Given the description of an element on the screen output the (x, y) to click on. 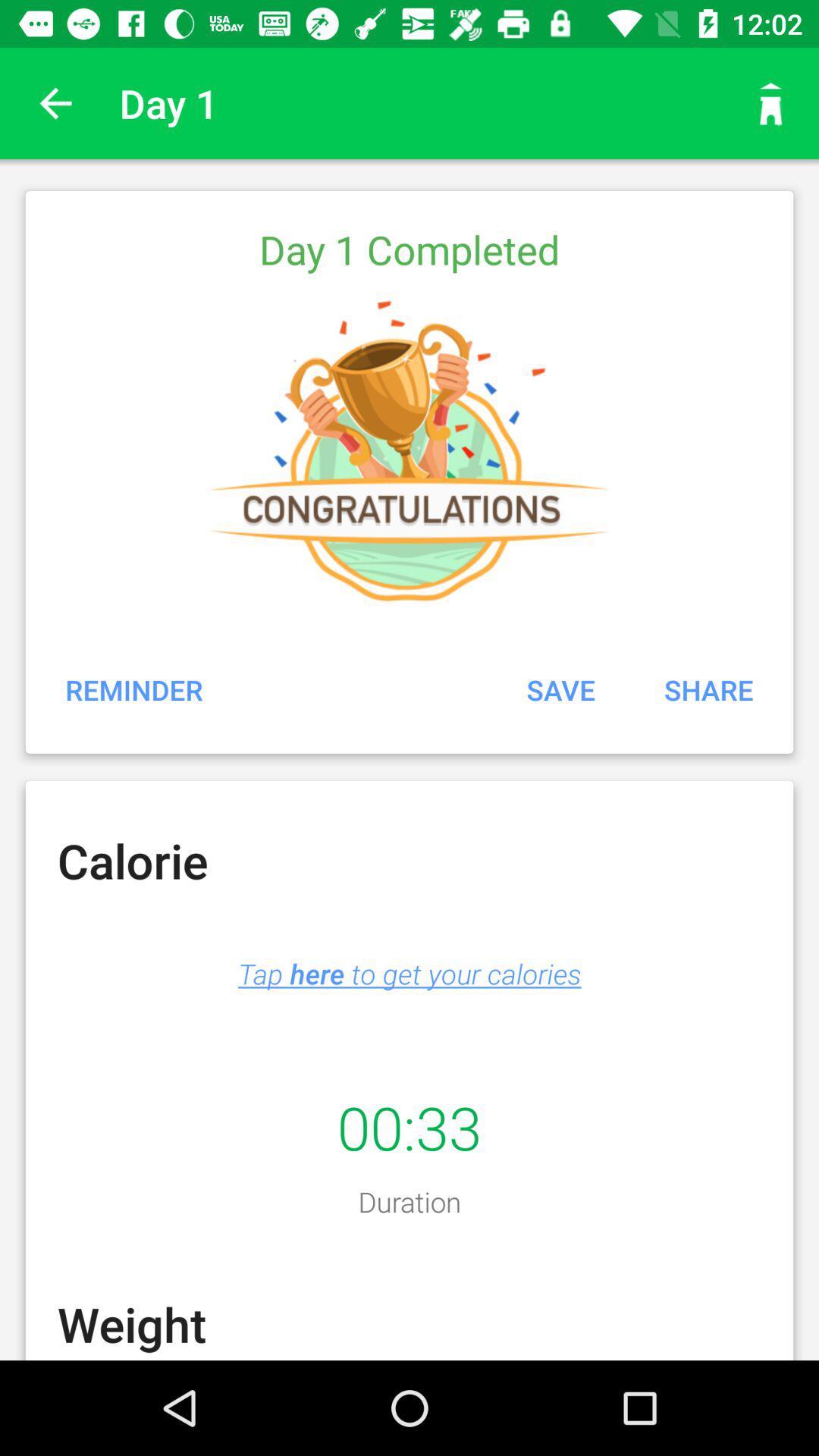
tap app next to the day 1 (55, 103)
